Given the description of an element on the screen output the (x, y) to click on. 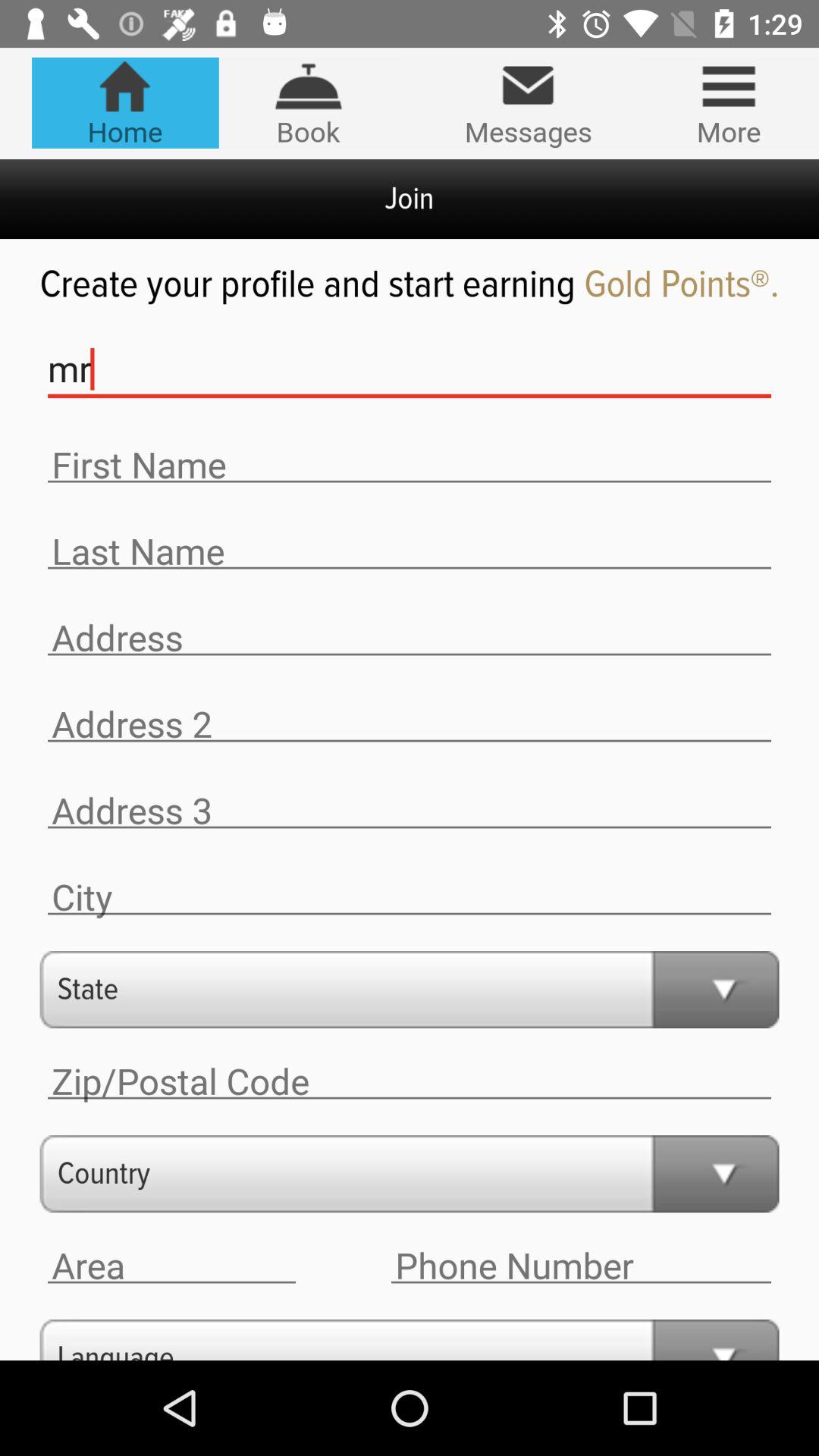
enter nqme (409, 551)
